Given the description of an element on the screen output the (x, y) to click on. 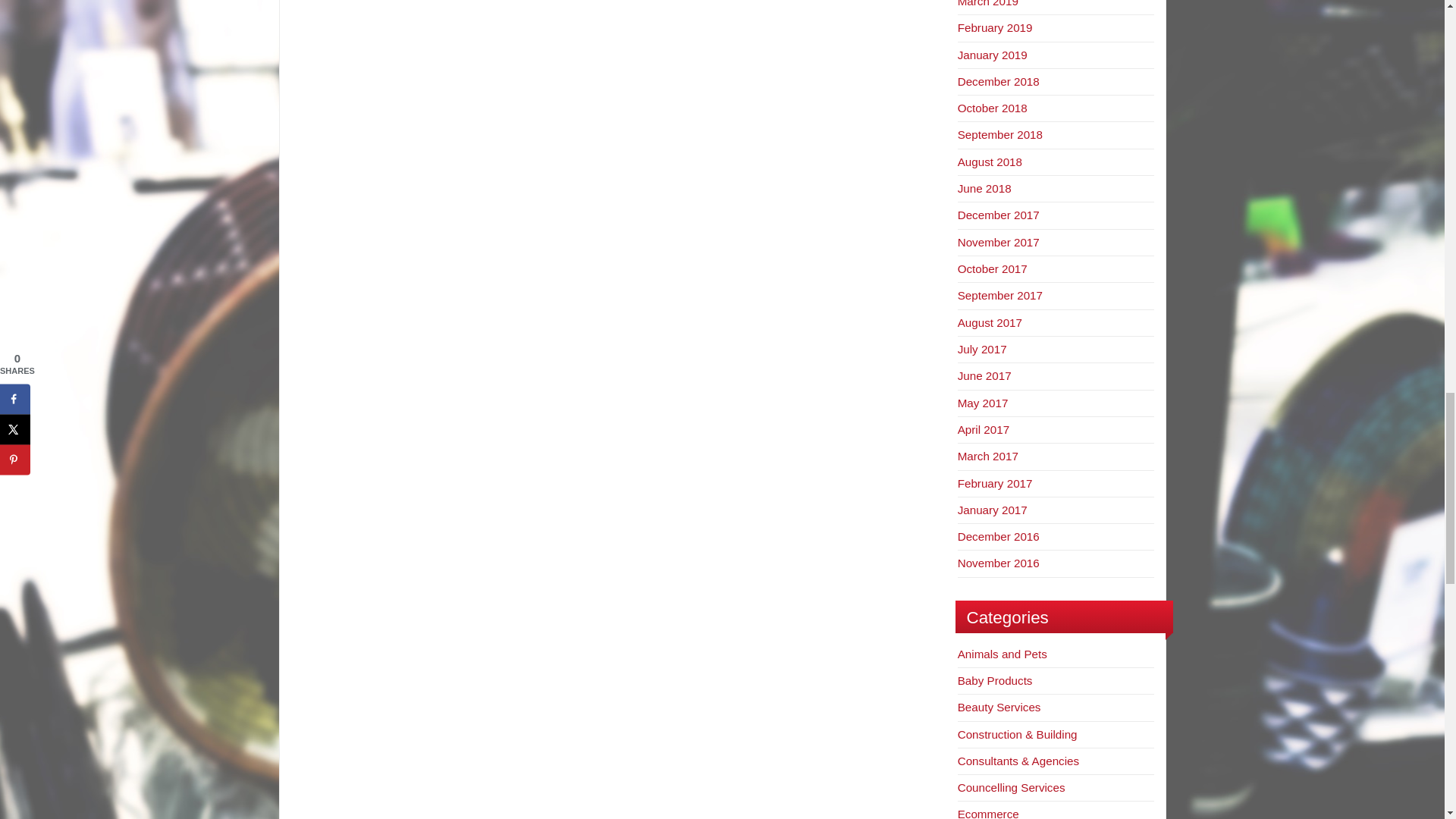
Ecommerce (988, 813)
